Given the description of an element on the screen output the (x, y) to click on. 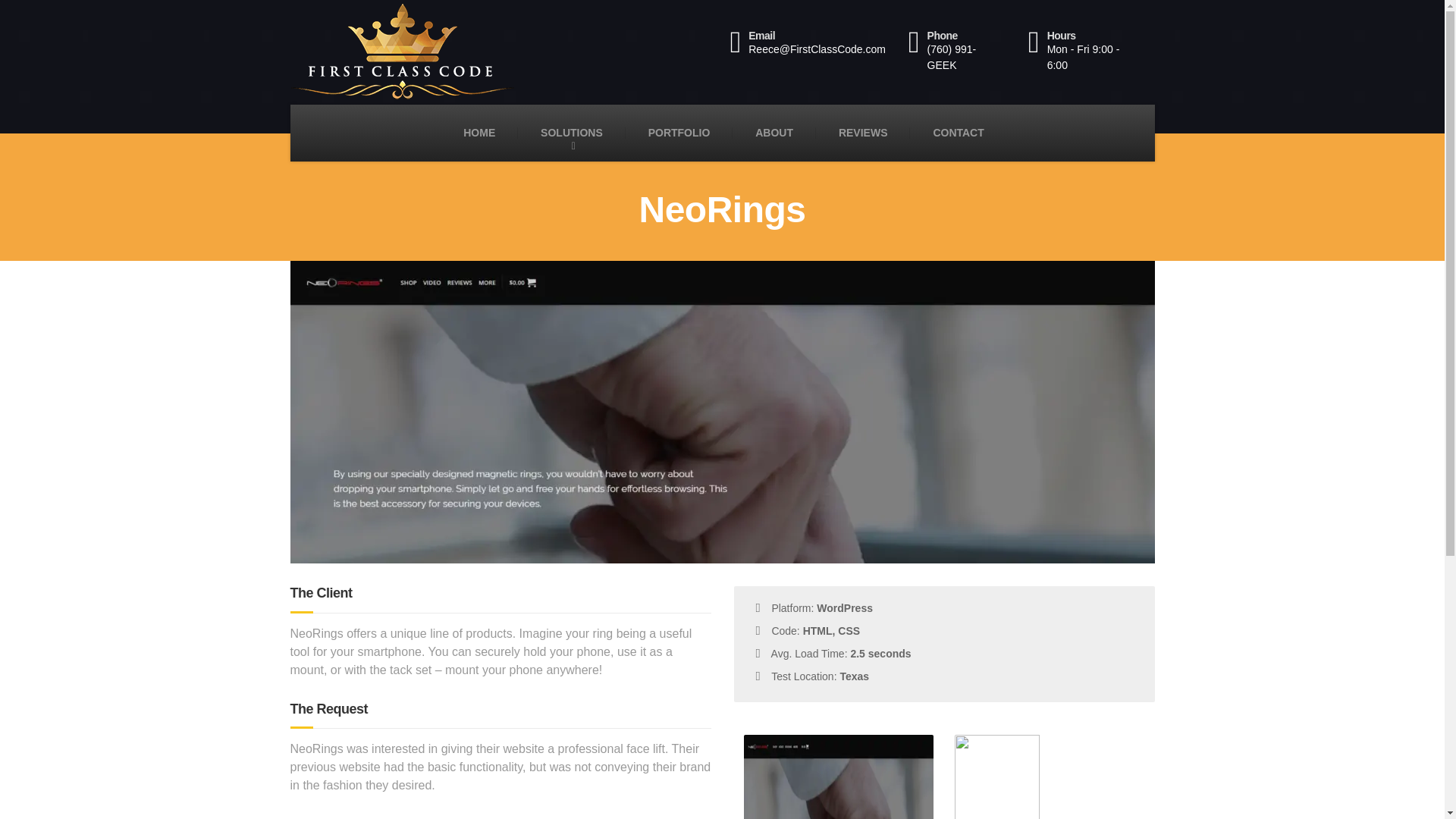
CONTACT (958, 132)
HOME (479, 132)
ABOUT (773, 132)
REVIEWS (863, 132)
PORTFOLIO (679, 132)
SOLUTIONS (572, 132)
